Given the description of an element on the screen output the (x, y) to click on. 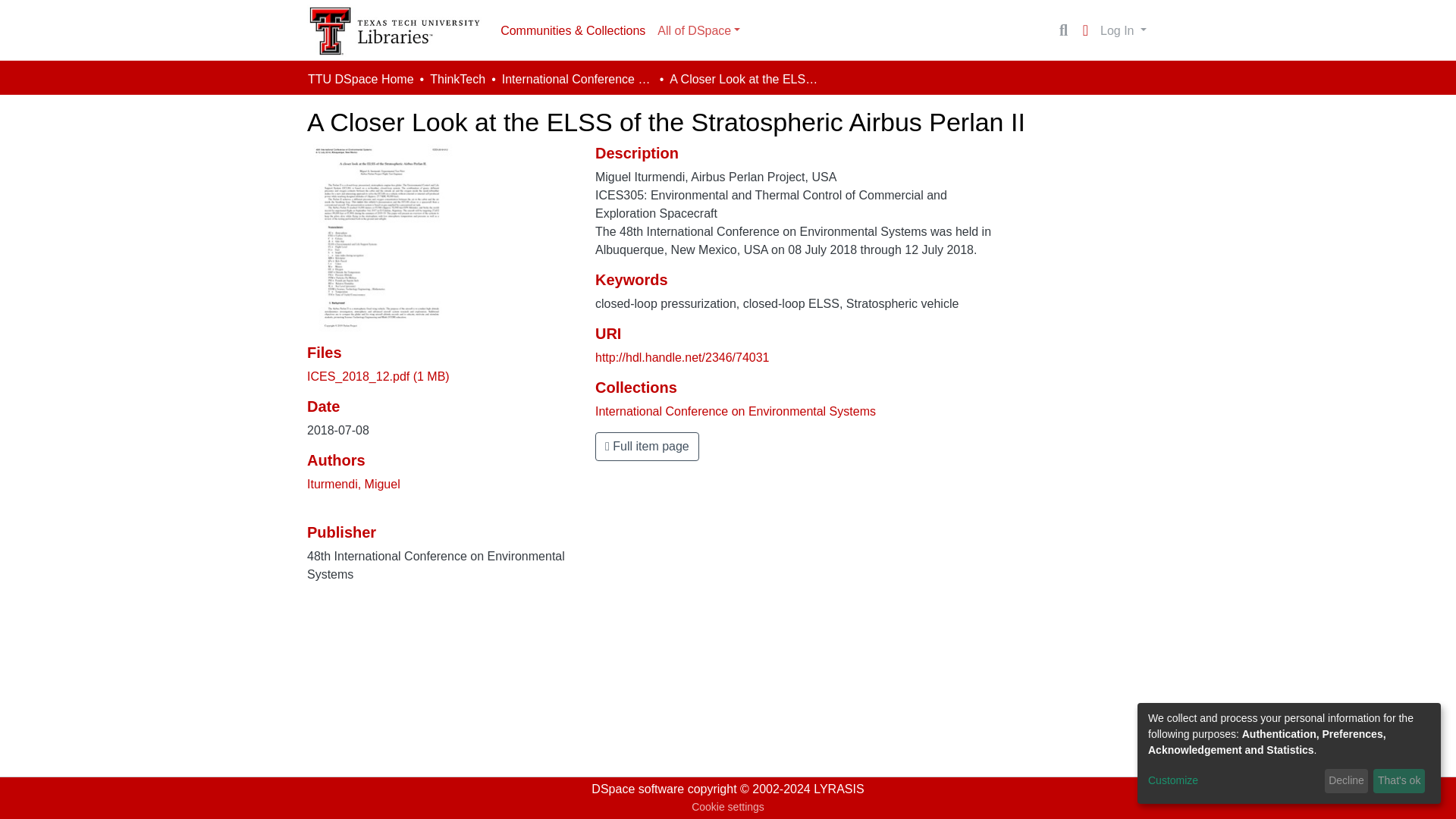
TTU DSpace Home (360, 79)
Log In (1122, 30)
ThinkTech (456, 79)
Decline (1346, 781)
Customize (1233, 780)
International Conference on Environmental Systems (577, 79)
DSpace software (637, 788)
Cookie settings (727, 806)
Language switch (1084, 30)
All of DSpace (697, 30)
